Given the description of an element on the screen output the (x, y) to click on. 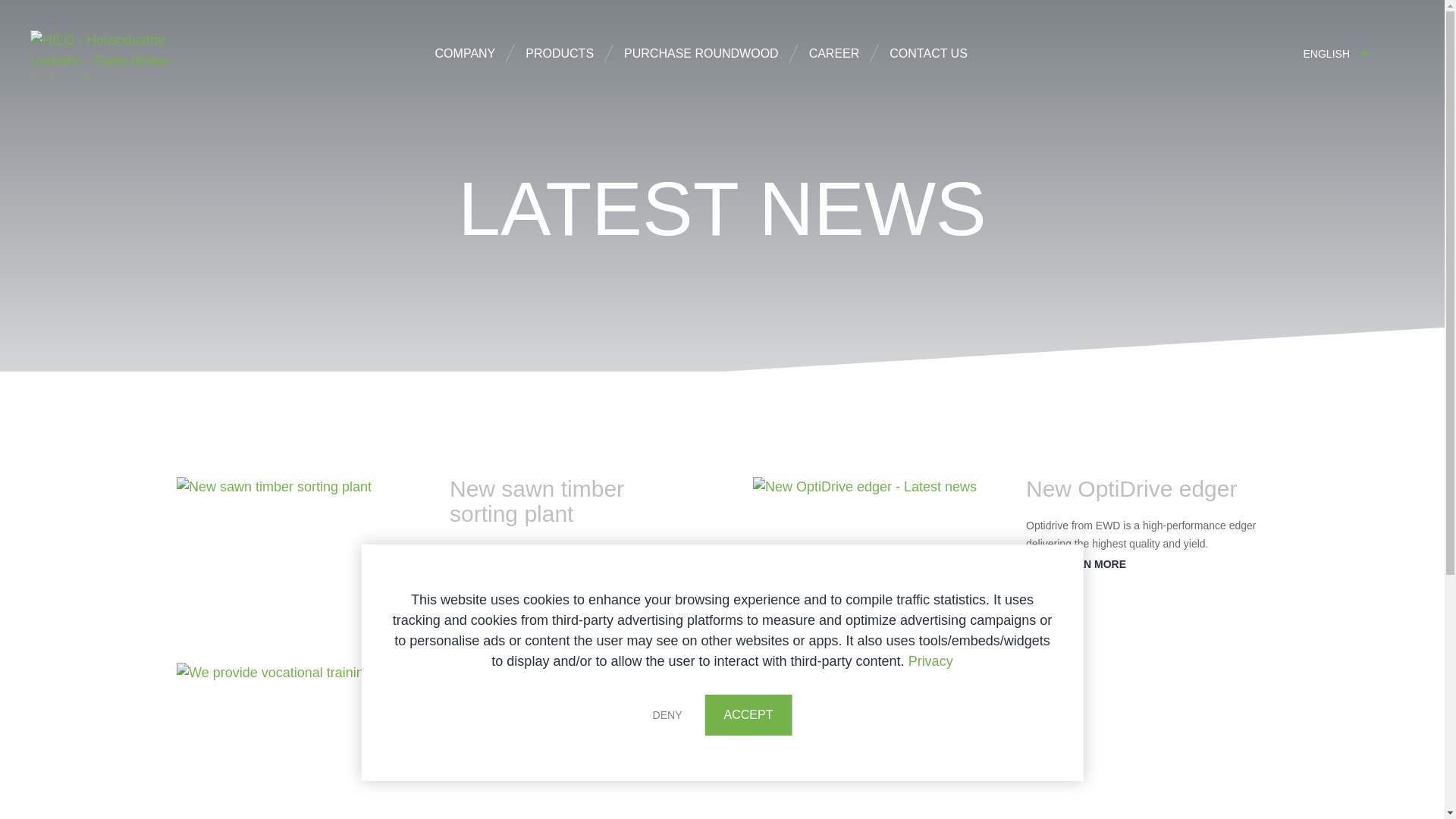
CONTACT US (928, 53)
ACCEPT (748, 714)
Privacy (930, 661)
CAREER (834, 53)
DENY (667, 714)
COMPANY (465, 53)
PURCHASE ROUNDWOOD (700, 53)
